Given the description of an element on the screen output the (x, y) to click on. 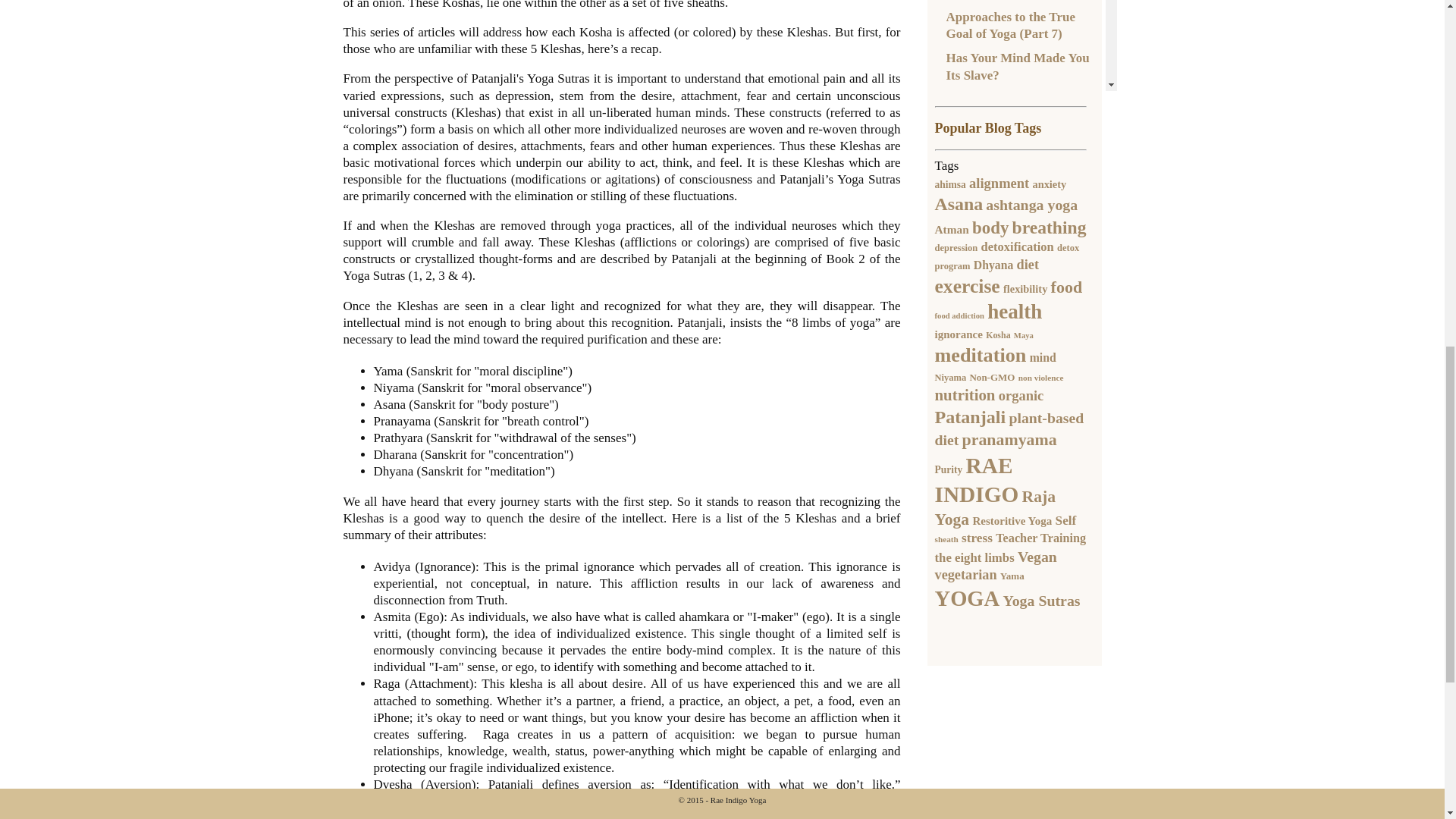
Has Your Mind Made You Its Slave? (1021, 66)
